Given the description of an element on the screen output the (x, y) to click on. 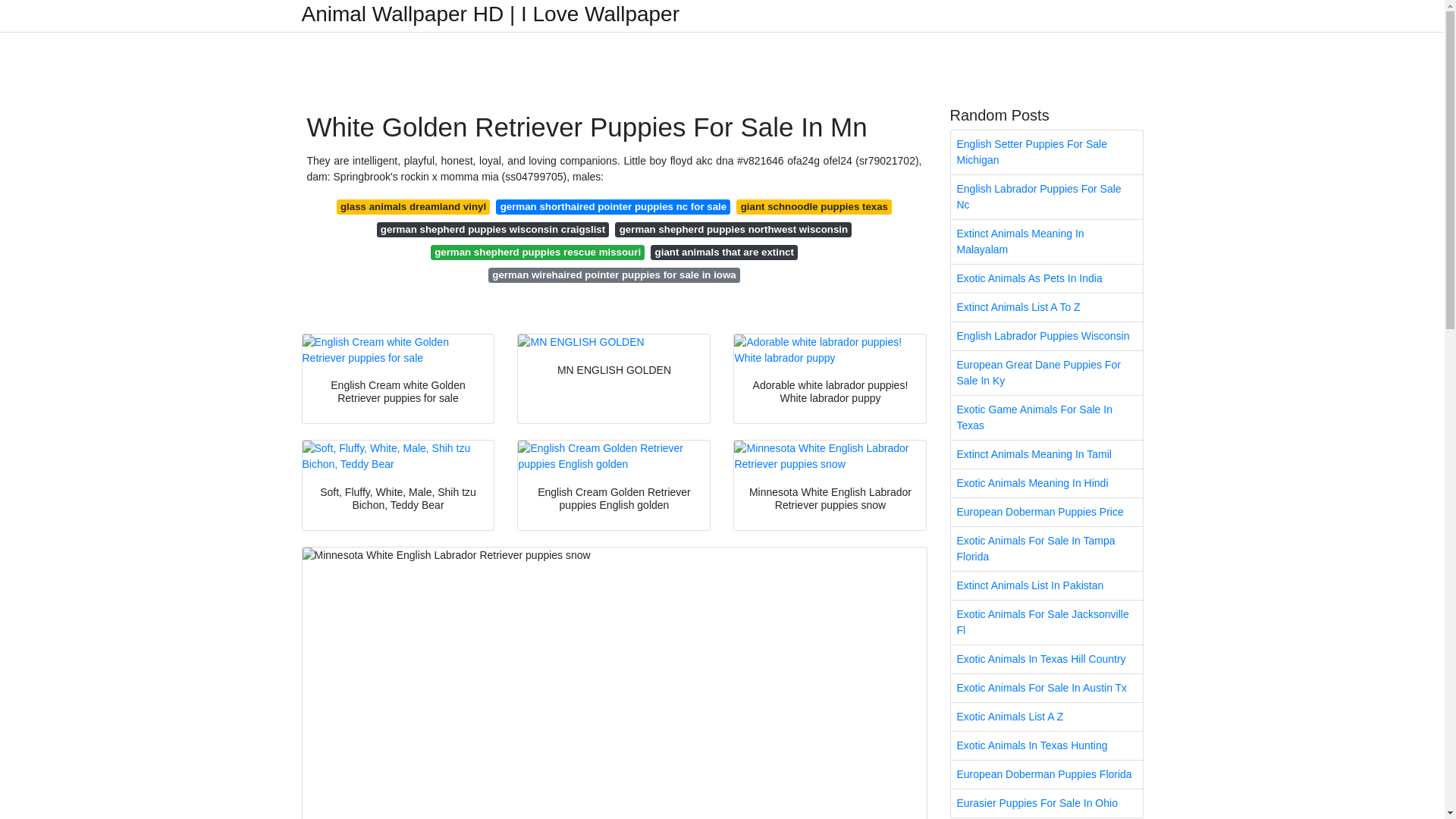
glass animals dreamland vinyl (413, 206)
german shepherd puppies rescue missouri (537, 252)
English Labrador Puppies For Sale Nc (1046, 197)
german shepherd puppies northwest wisconsin (732, 229)
Exotic Animals As Pets In India (1046, 278)
Exotic Animals Meaning In Hindi (1046, 483)
Extinct Animals List A To Z (1046, 307)
giant schnoodle puppies texas (813, 206)
Extinct Animals Meaning In Tamil (1046, 454)
English Labrador Puppies Wisconsin (1046, 336)
